Given the description of an element on the screen output the (x, y) to click on. 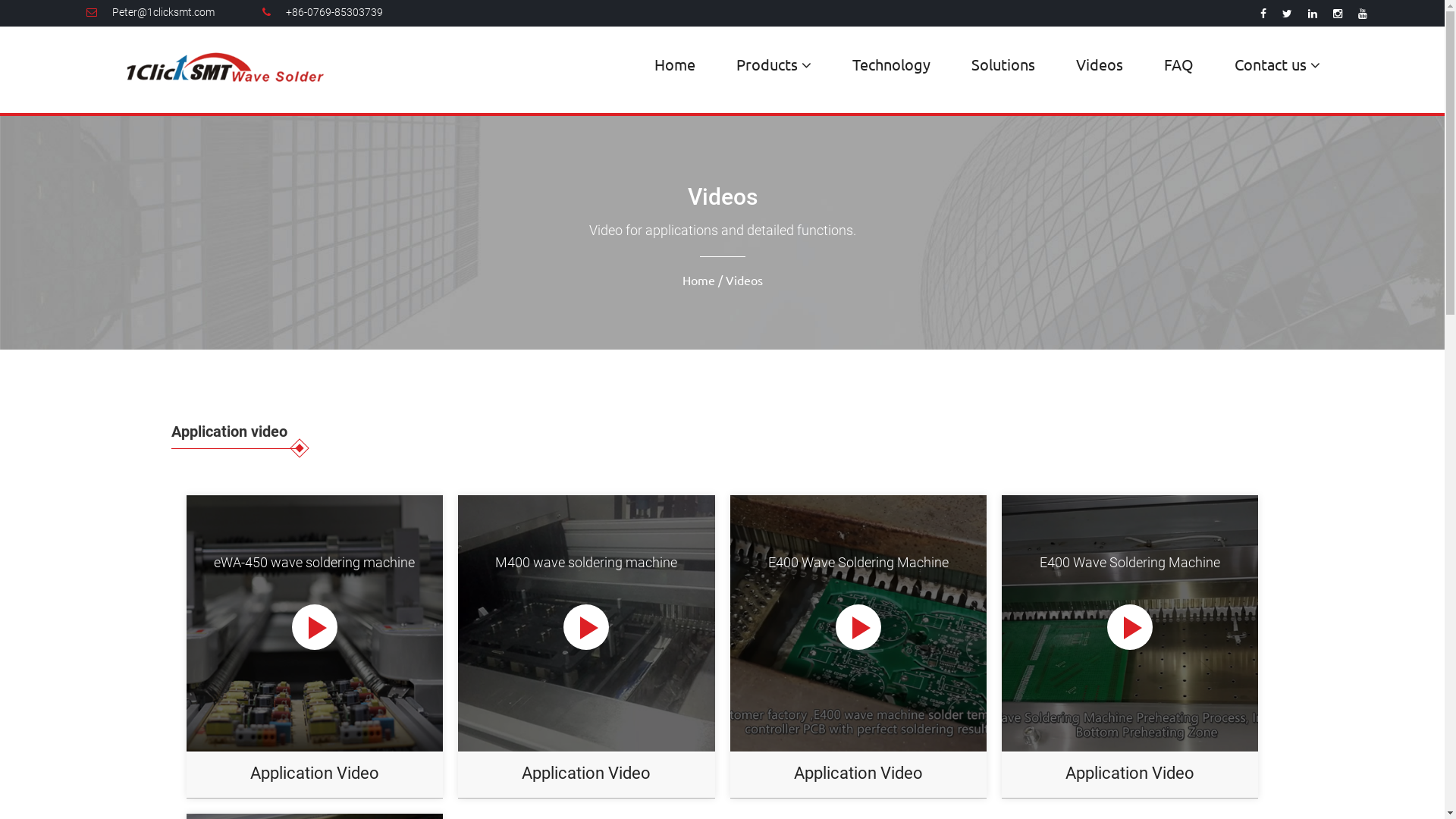
Technology Element type: text (890, 64)
Home Element type: text (698, 279)
Home Element type: text (674, 64)
Twitter Element type: hover (1287, 13)
FAQ Element type: text (1178, 64)
Products Element type: text (773, 64)
Youtube Element type: hover (1362, 13)
Instagram Element type: hover (1337, 13)
Facebook Element type: hover (1263, 13)
Contact us Element type: text (1277, 64)
Videos Element type: text (1099, 64)
Solutions Element type: text (1003, 64)
